Given the description of an element on the screen output the (x, y) to click on. 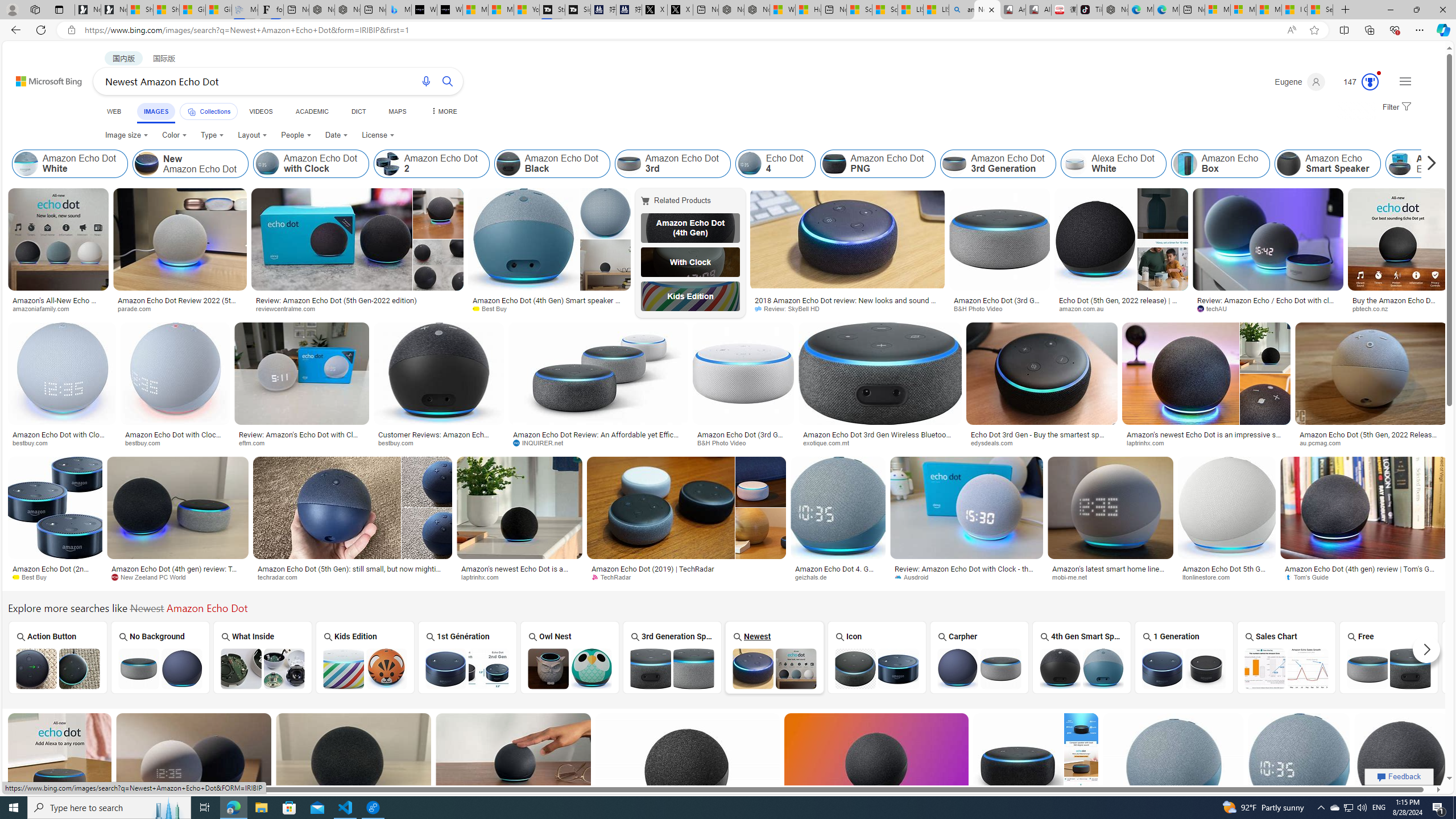
Amazon Echo Smart Speaker (1288, 163)
reviewcentralme.com (289, 308)
MAPS (397, 111)
Kids Edition (689, 296)
Amazon Echo Dot 3rd (627, 163)
Amazon Echo Dot Kids Edition (364, 668)
Image size (126, 135)
Newsletter Sign Up (114, 9)
